Given the description of an element on the screen output the (x, y) to click on. 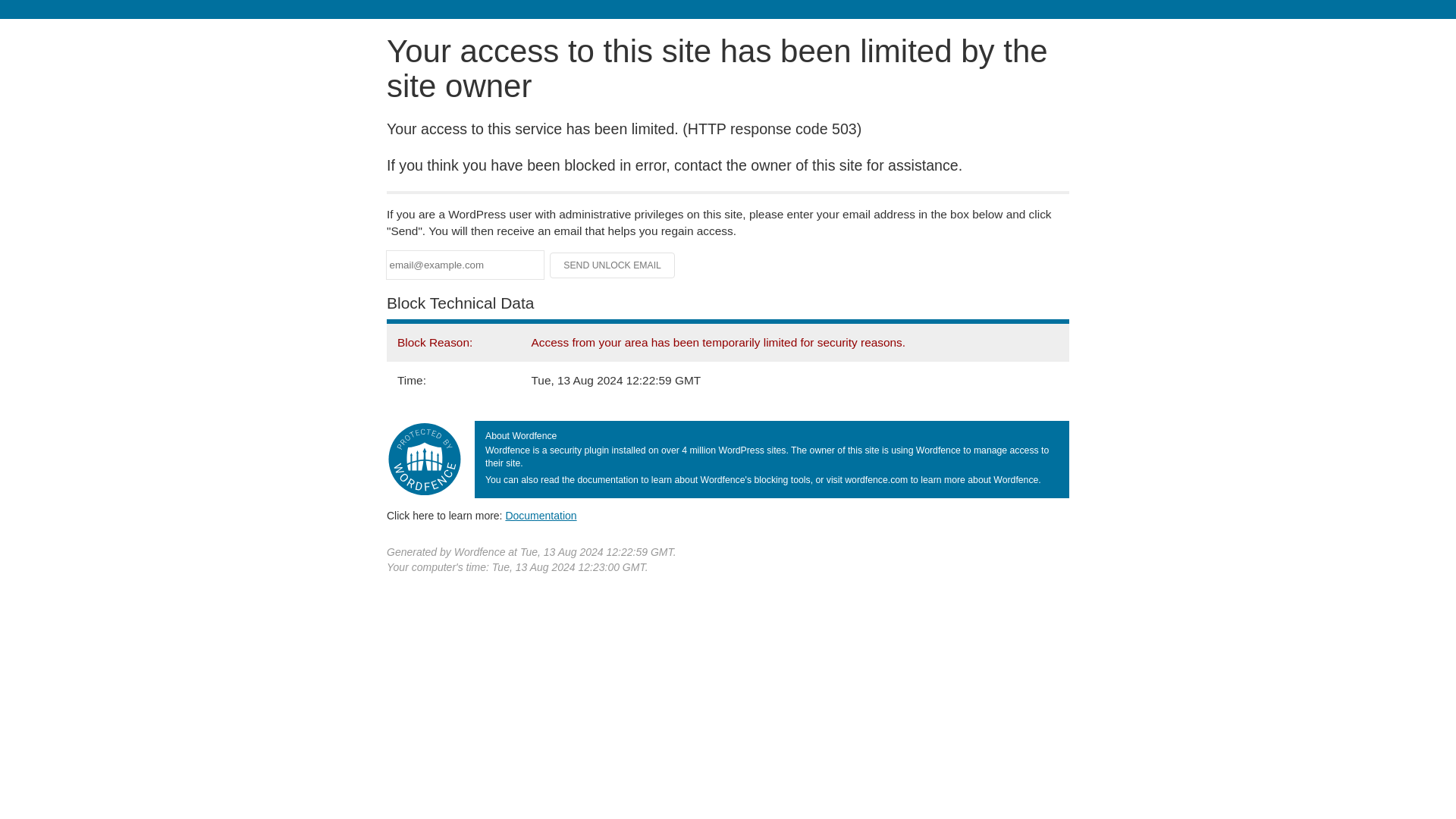
Documentation (540, 515)
Send Unlock Email (612, 265)
Send Unlock Email (612, 265)
